Given the description of an element on the screen output the (x, y) to click on. 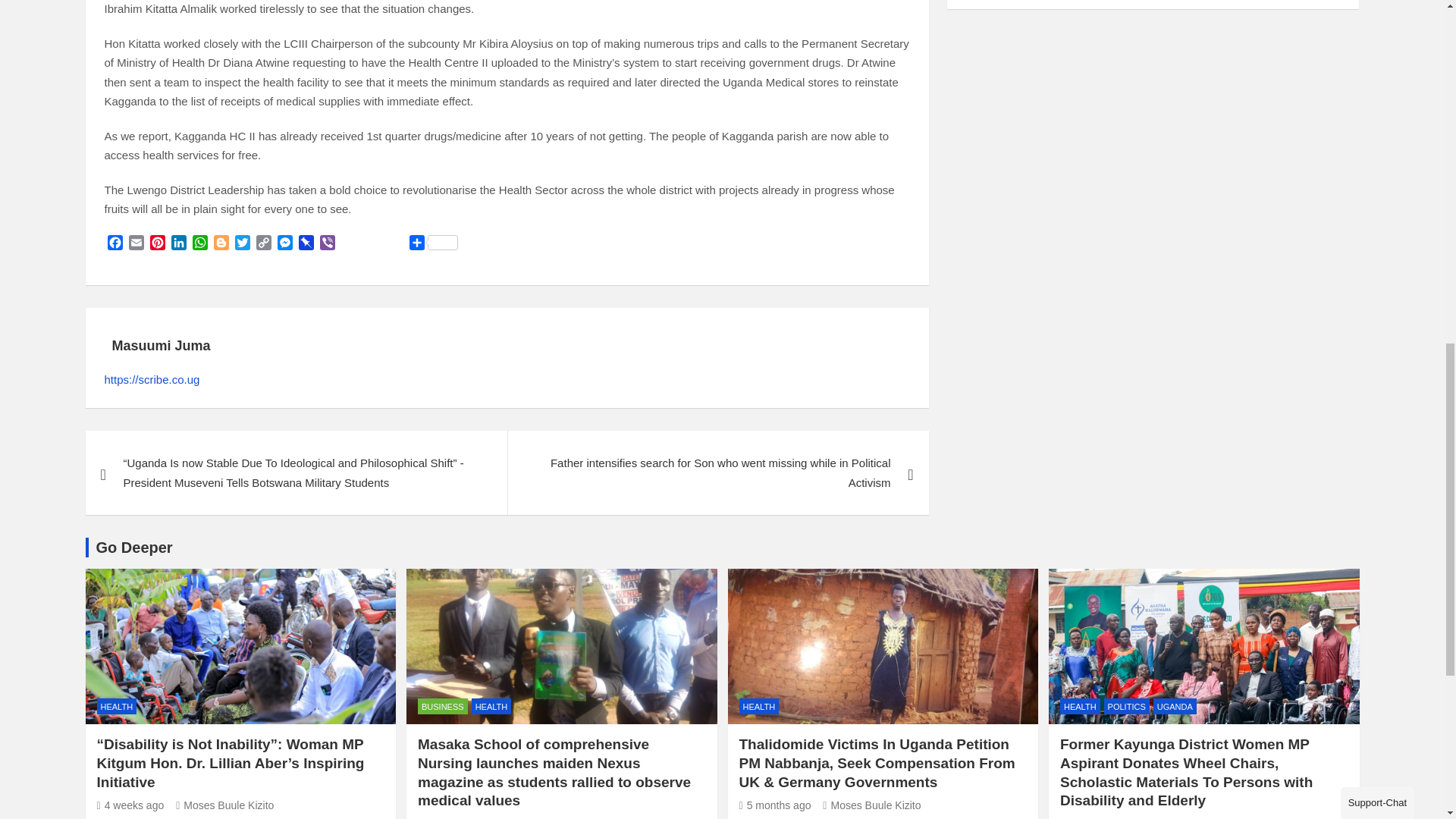
Pinterest (157, 244)
Email (136, 244)
Email (136, 244)
Viber (327, 244)
Blogger (221, 244)
Twitter (242, 244)
Pinterest (157, 244)
Blogger (221, 244)
Messenger (285, 244)
WhatsApp (200, 244)
Copy Link (264, 244)
LinkedIn (178, 244)
Twitter (242, 244)
